Given the description of an element on the screen output the (x, y) to click on. 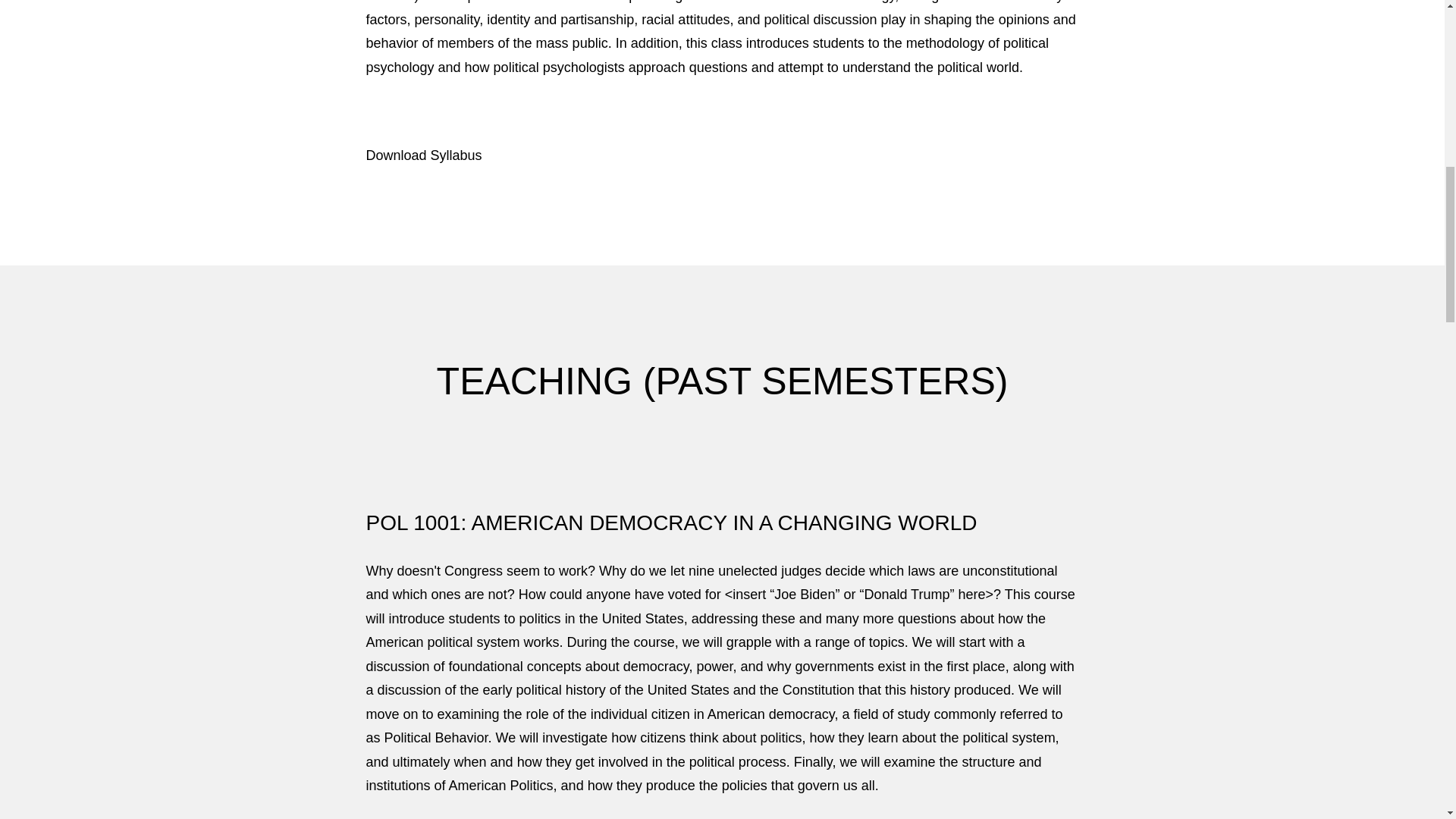
Download Syllabus (423, 155)
